Given the description of an element on the screen output the (x, y) to click on. 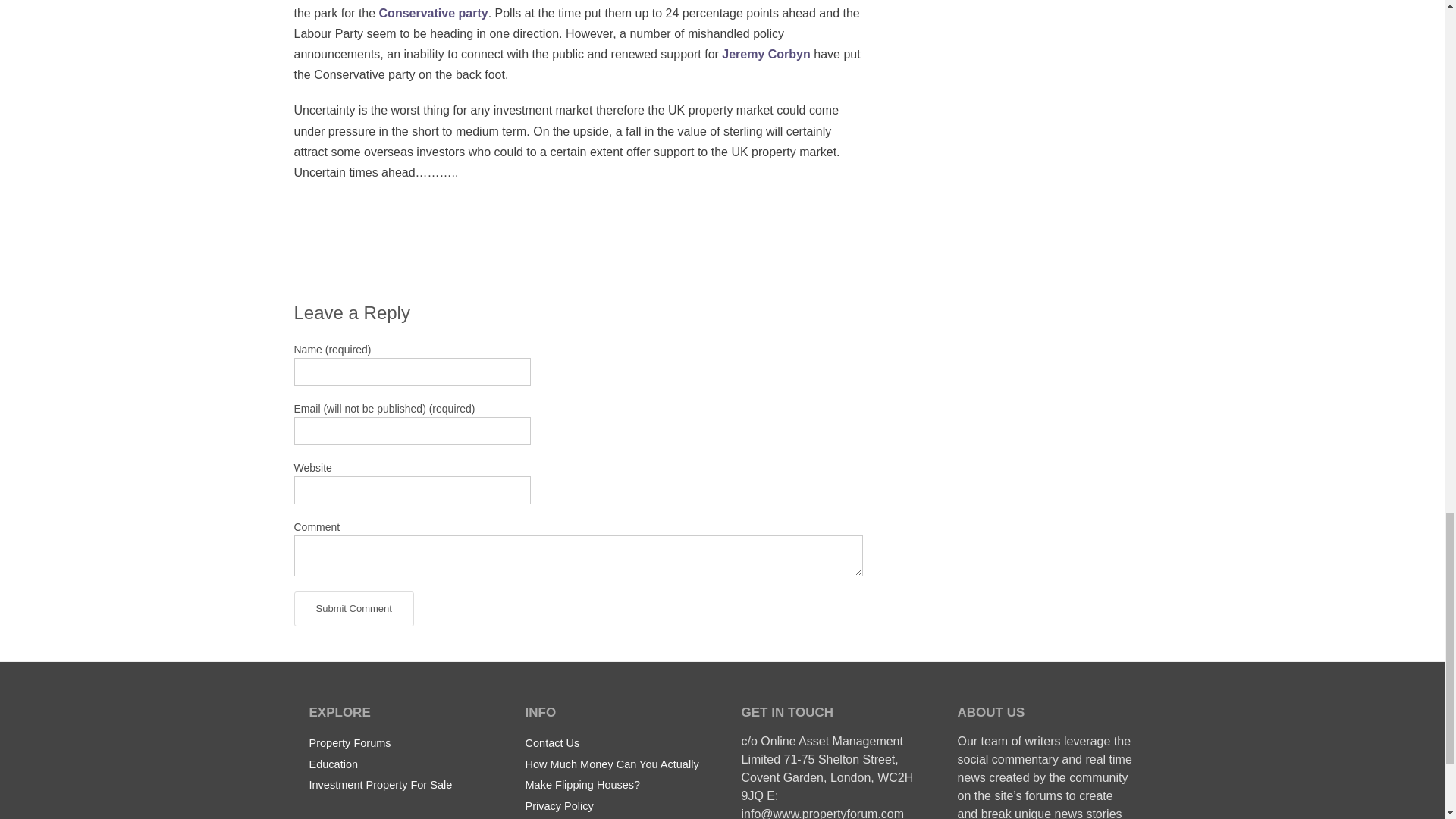
Contact Us (551, 742)
Terms And Conditions (577, 817)
Property Forums (349, 742)
Privacy Policy (558, 805)
Conservative party (432, 12)
Submit Comment (353, 608)
How Much Money Can You Actually Make Flipping Houses? (611, 774)
Education (333, 763)
Investment Property For Sale (380, 784)
Submit Comment (353, 608)
Jeremy Corbyn (766, 53)
